Given the description of an element on the screen output the (x, y) to click on. 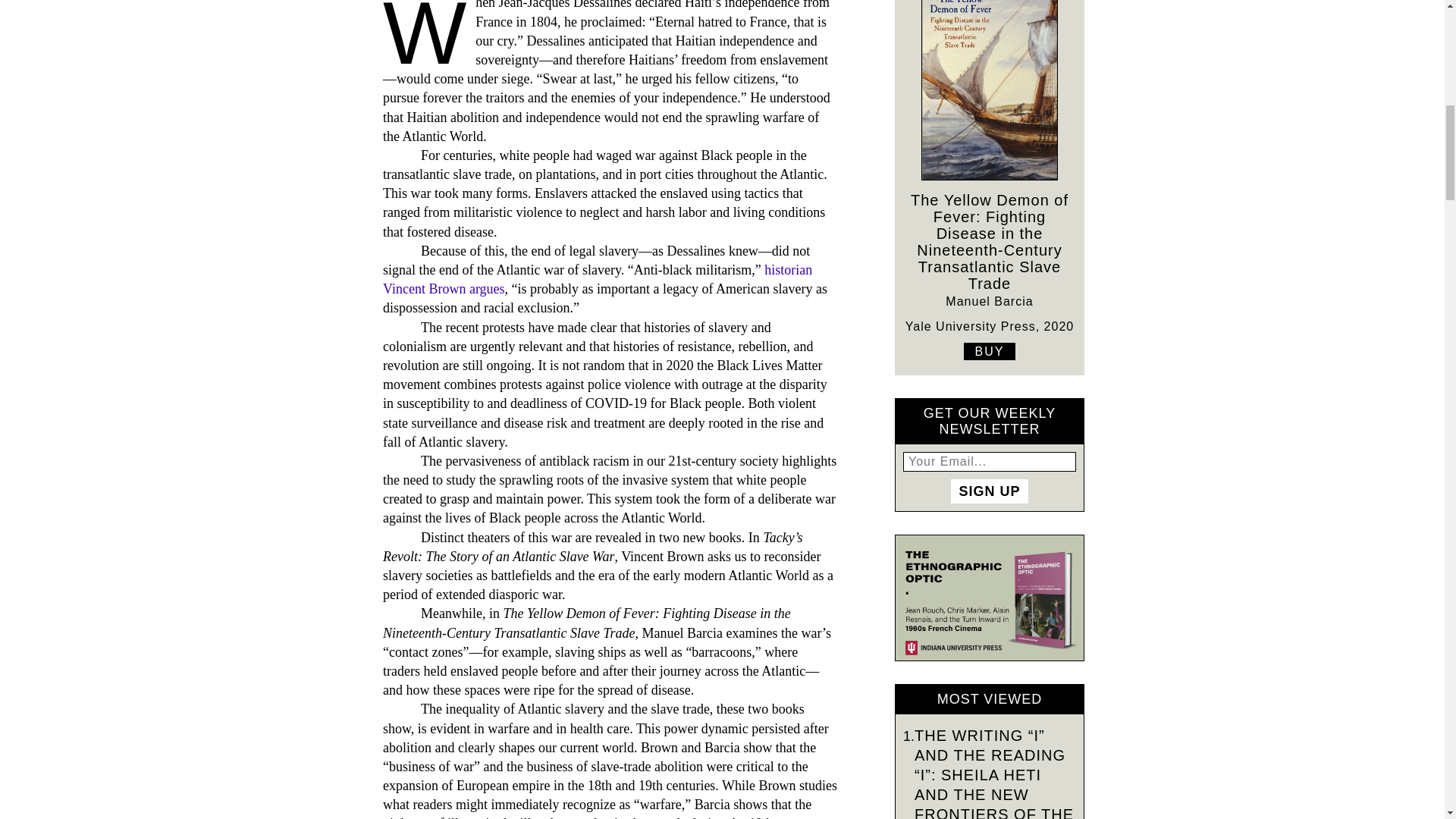
Sign Up (988, 491)
